Given the description of an element on the screen output the (x, y) to click on. 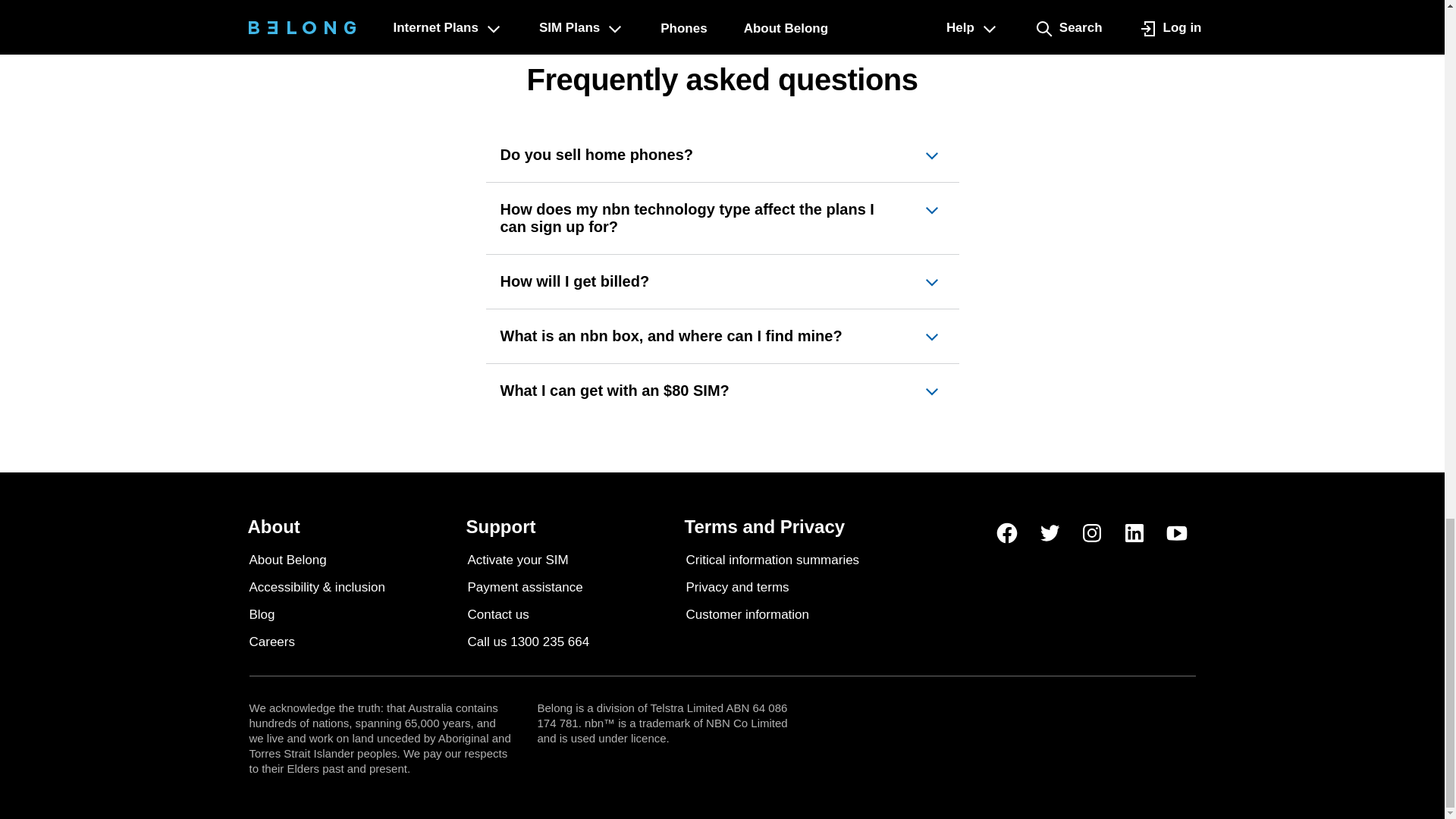
Do you sell home phones? (723, 154)
Customer information (747, 614)
How will I get billed? (723, 281)
Belong Facebook (1006, 533)
Careers (271, 641)
What is an nbn box, and where can I find mine? (723, 336)
Blog (261, 614)
Critical information summaries (772, 559)
About Belong (287, 559)
Call us 1300 235 664 (528, 641)
Privacy and terms (737, 586)
Payment assistance (524, 586)
Activate your SIM (517, 559)
Contact us (497, 614)
